Given the description of an element on the screen output the (x, y) to click on. 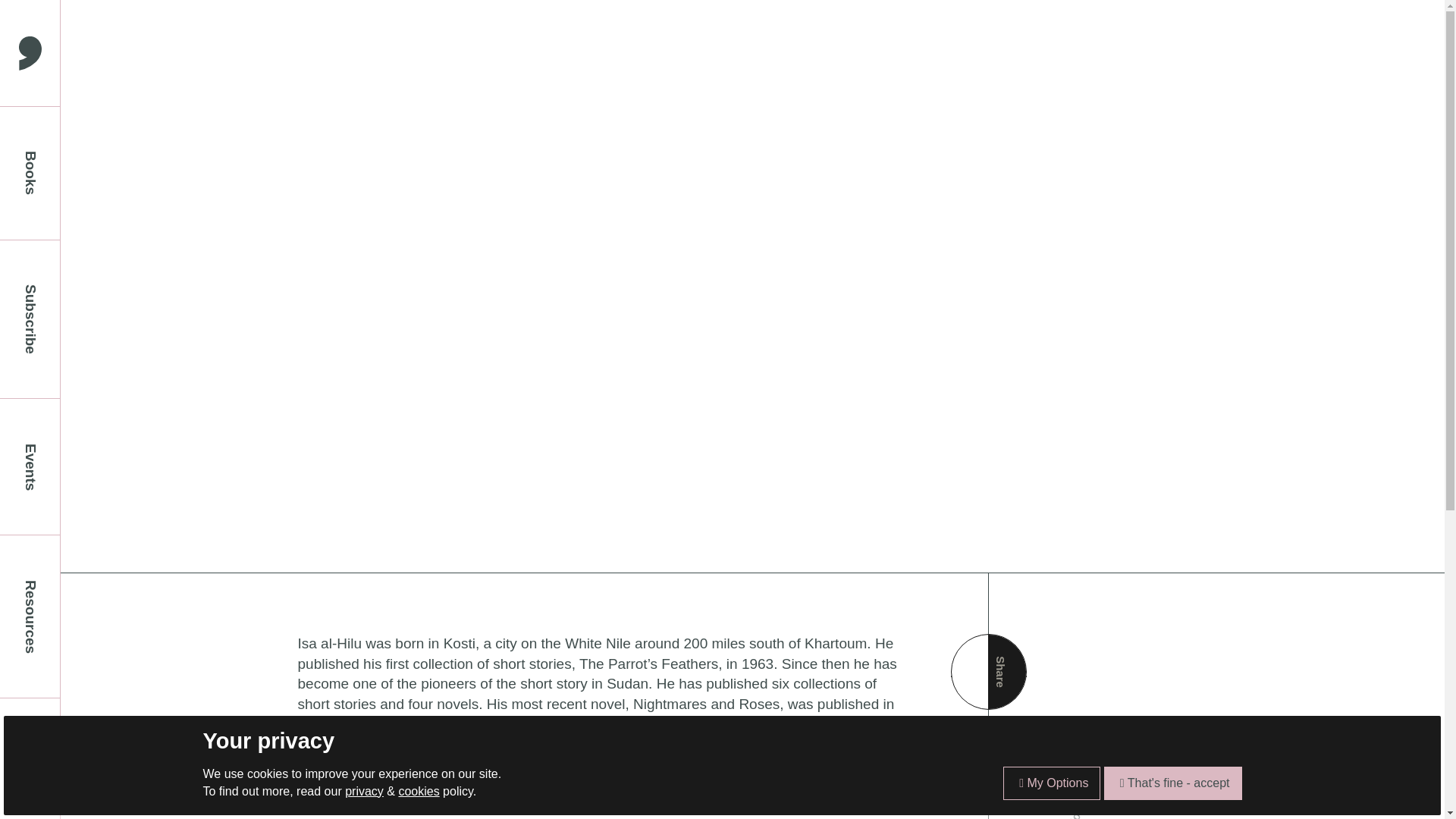
Blog (29, 758)
privacy (364, 790)
Press to skip to main content (11, 11)
Subscribe (29, 319)
Comma Press (30, 53)
My Options (1051, 783)
Books (29, 173)
cookies (418, 790)
Resources (29, 616)
All Authors (1113, 744)
That's fine - accept (1172, 783)
Events (29, 466)
